Given the description of an element on the screen output the (x, y) to click on. 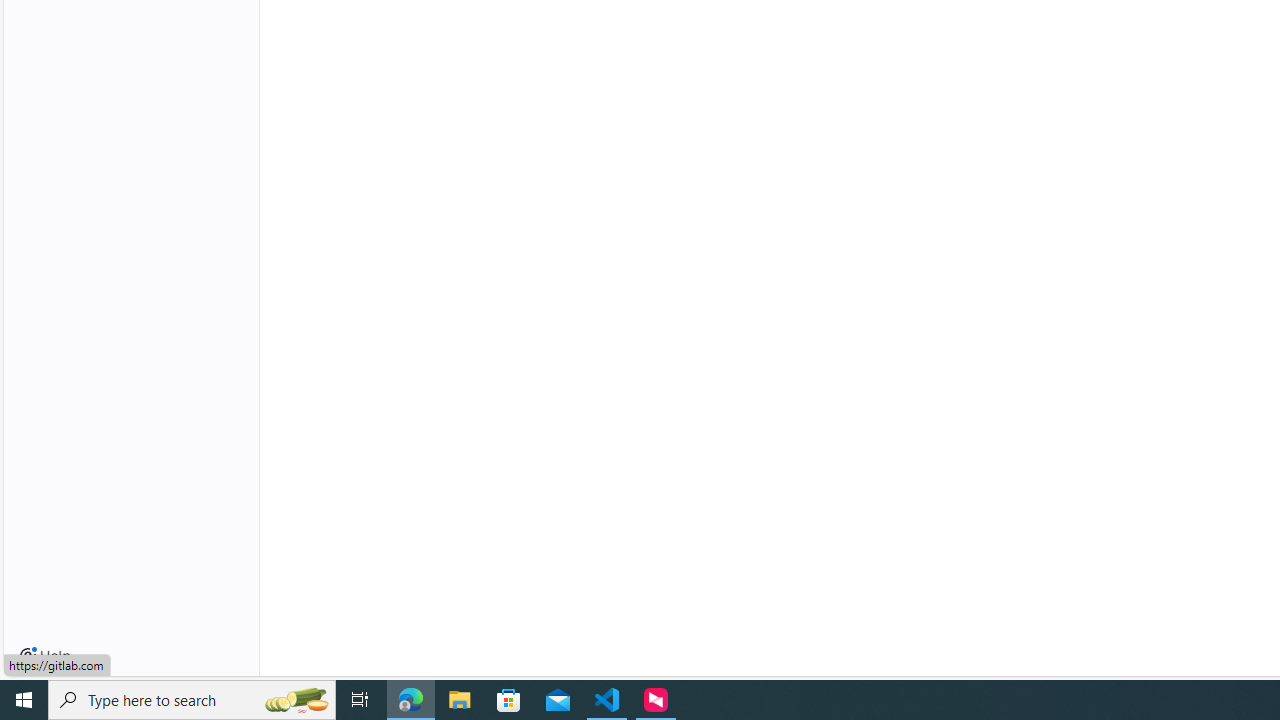
Help (45, 655)
